Given the description of an element on the screen output the (x, y) to click on. 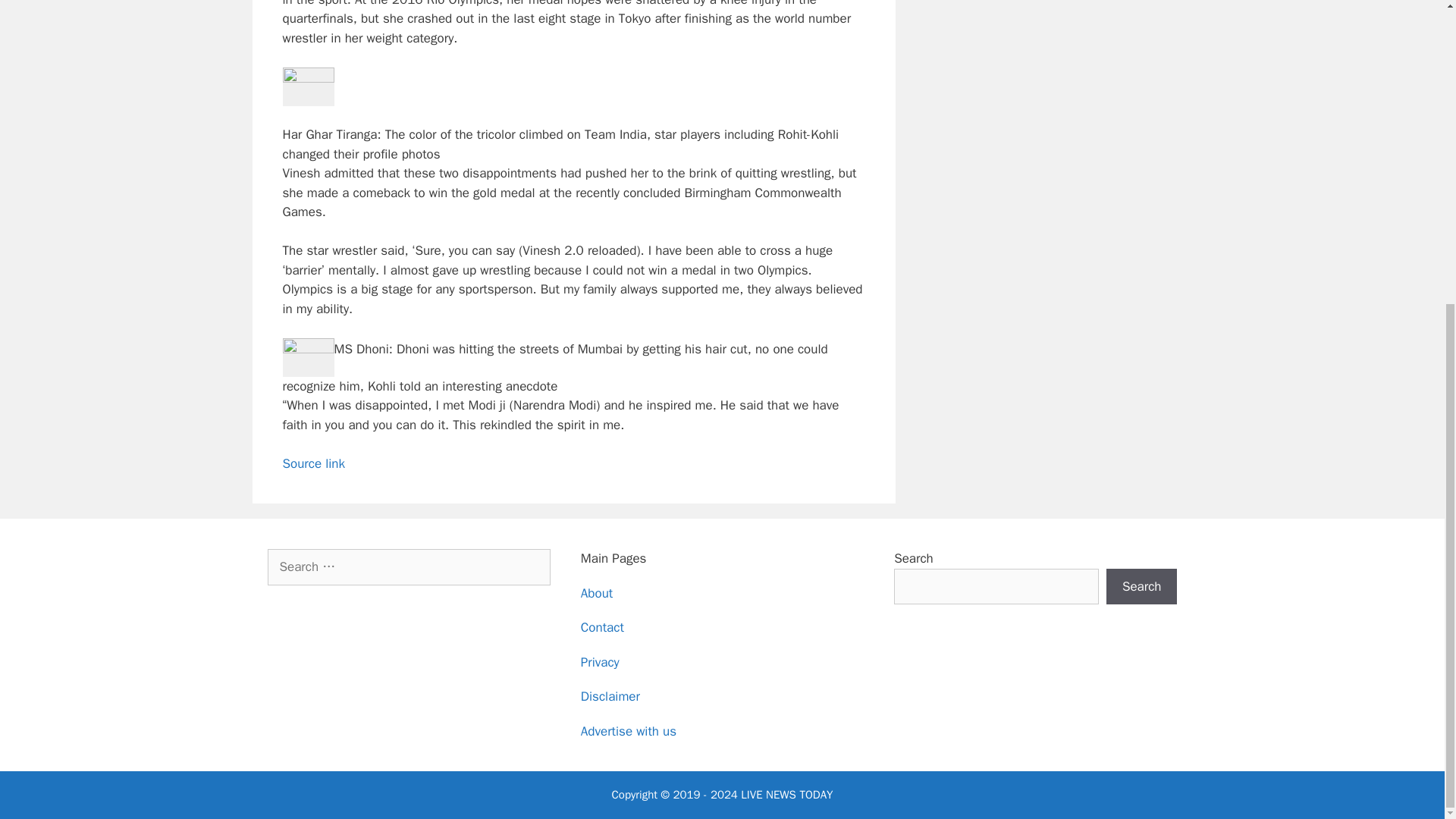
Contact (602, 627)
Search for: (408, 566)
Source link (313, 463)
Disclaimer (610, 696)
Privacy (600, 662)
About (596, 593)
